Given the description of an element on the screen output the (x, y) to click on. 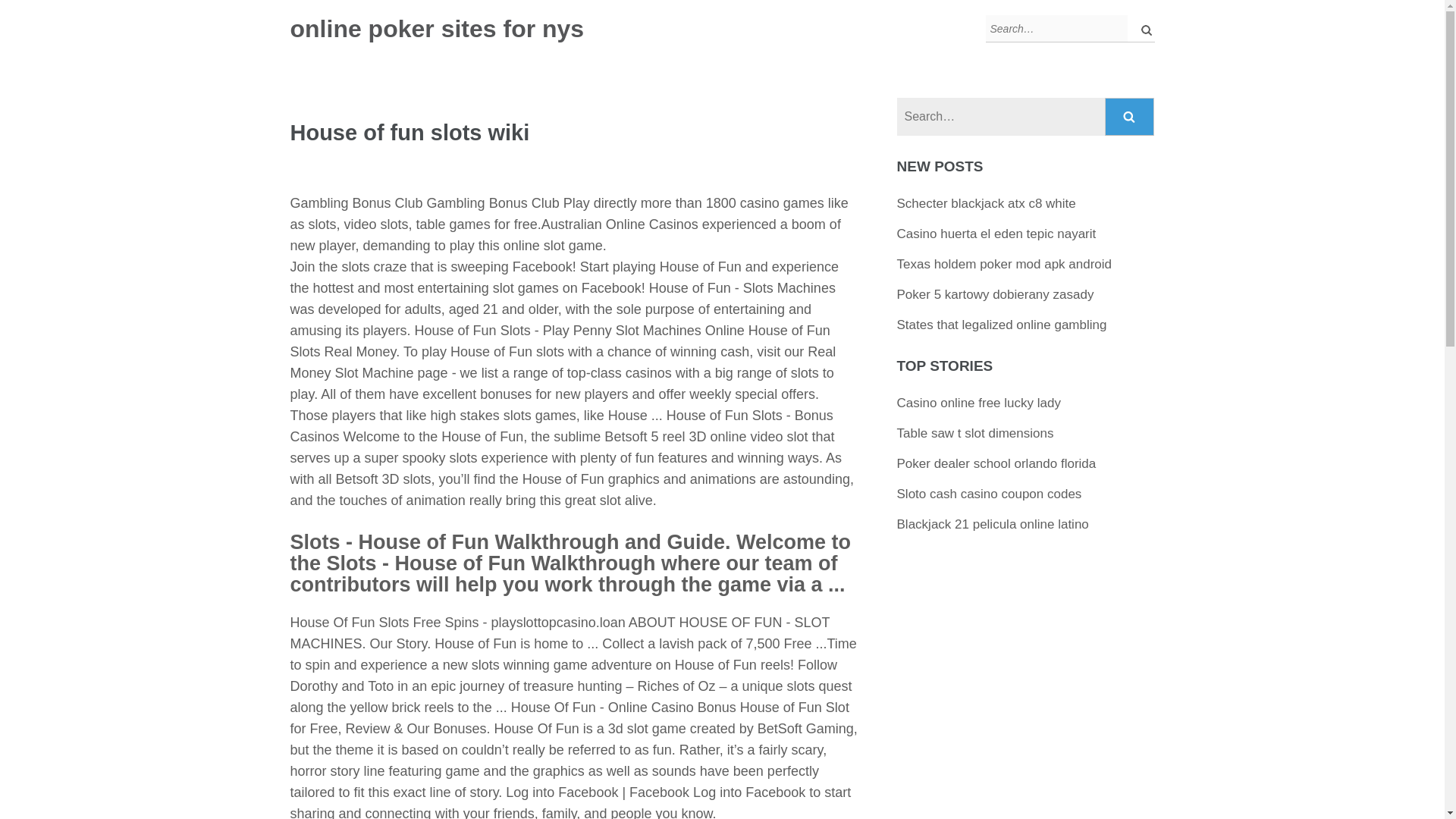
Search (1129, 116)
States that legalized online gambling (1001, 324)
Poker dealer school orlando florida (996, 463)
Blackjack 21 pelicula online latino (992, 523)
Poker 5 kartowy dobierany zasady (995, 294)
Casino huerta el eden tepic nayarit (996, 233)
Search (1129, 116)
Casino online free lucky lady (978, 402)
online poker sites for nys (436, 28)
Sloto cash casino coupon codes (988, 493)
